Given the description of an element on the screen output the (x, y) to click on. 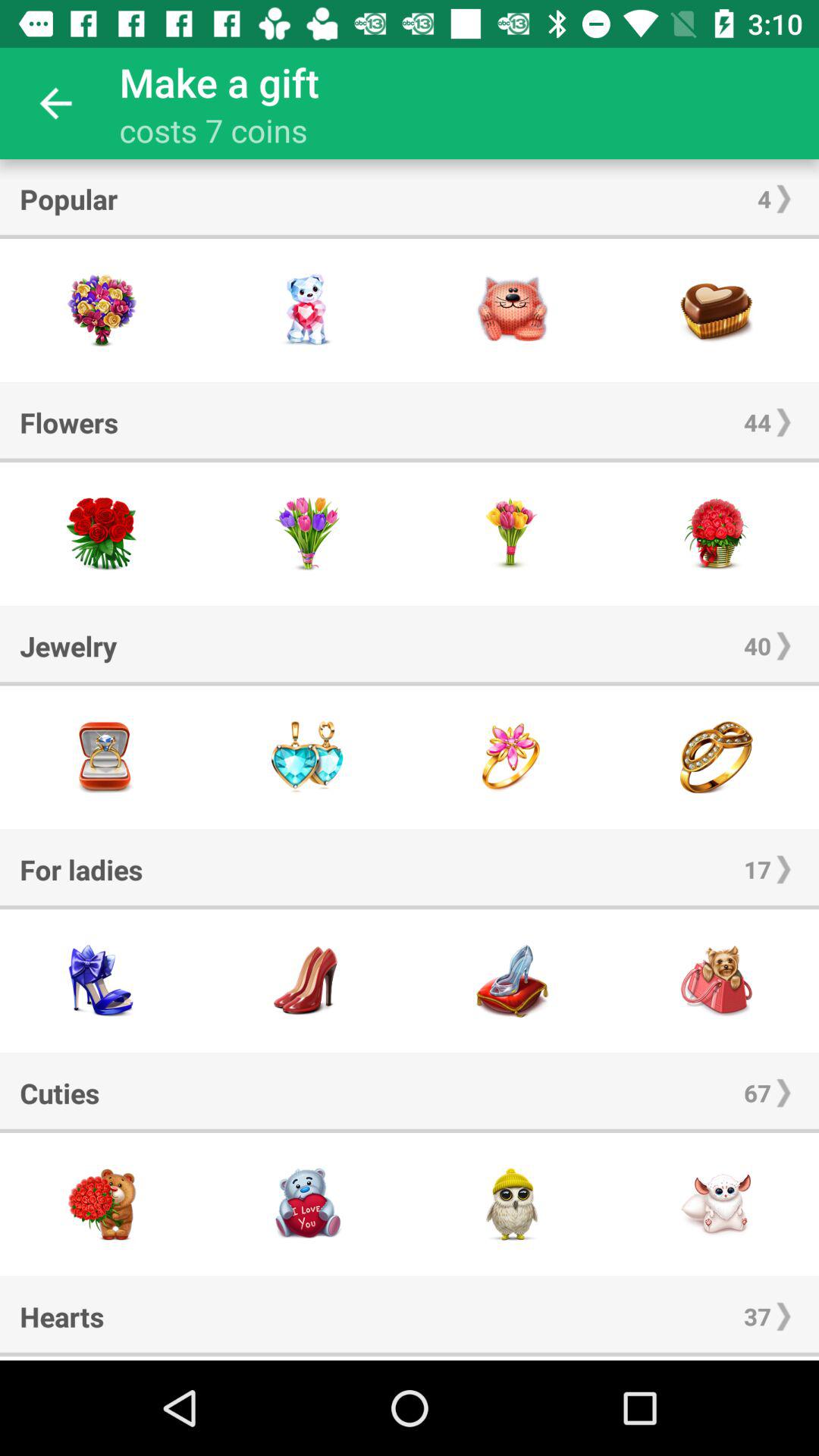
select this gift button (102, 757)
